Given the description of an element on the screen output the (x, y) to click on. 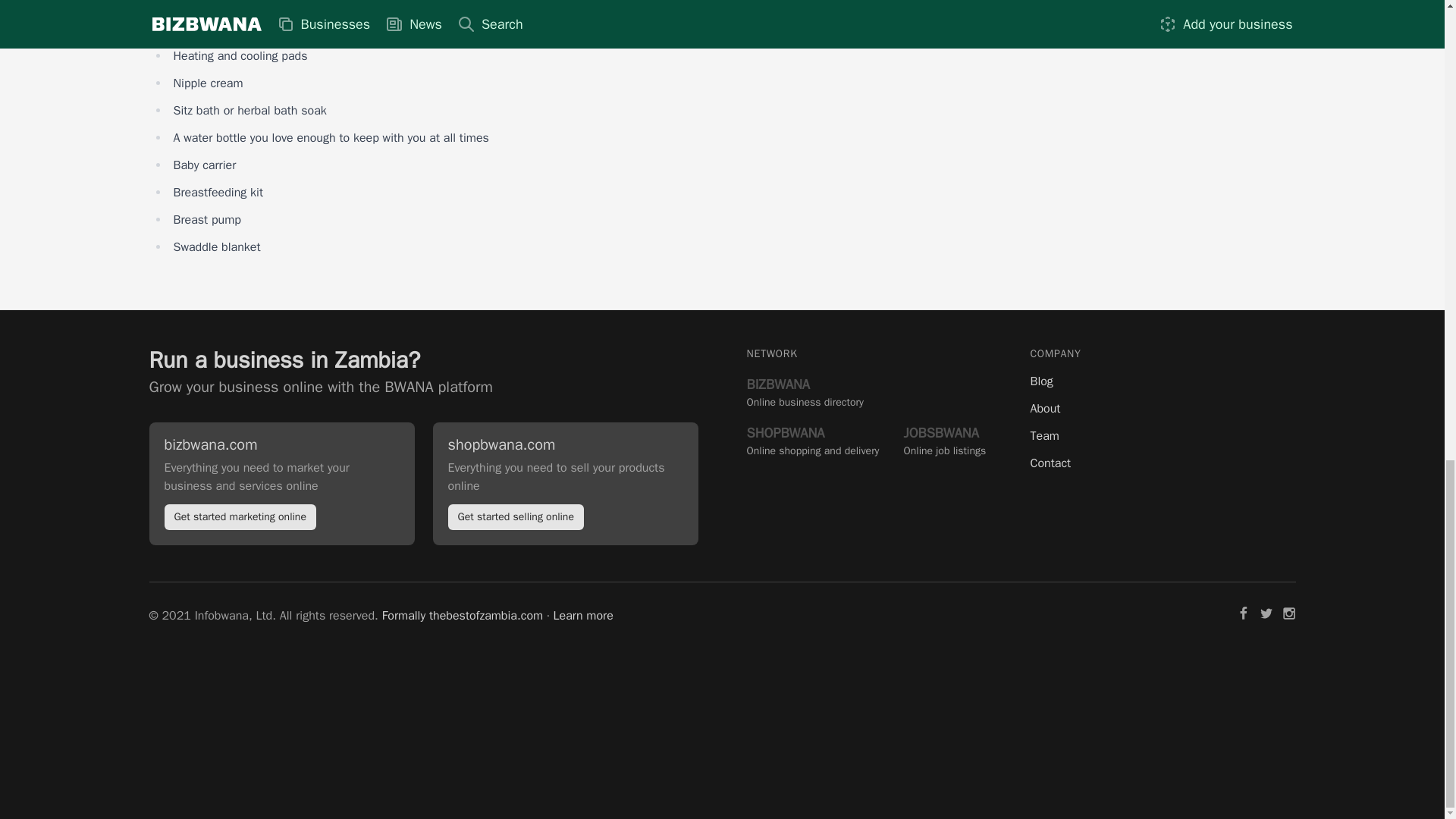
Get started selling online (514, 516)
Get started marketing online (239, 516)
Contact (1162, 462)
Team (1162, 435)
Grow your business online with the BWANA platform (812, 440)
Blog (320, 386)
About (804, 391)
